Given the description of an element on the screen output the (x, y) to click on. 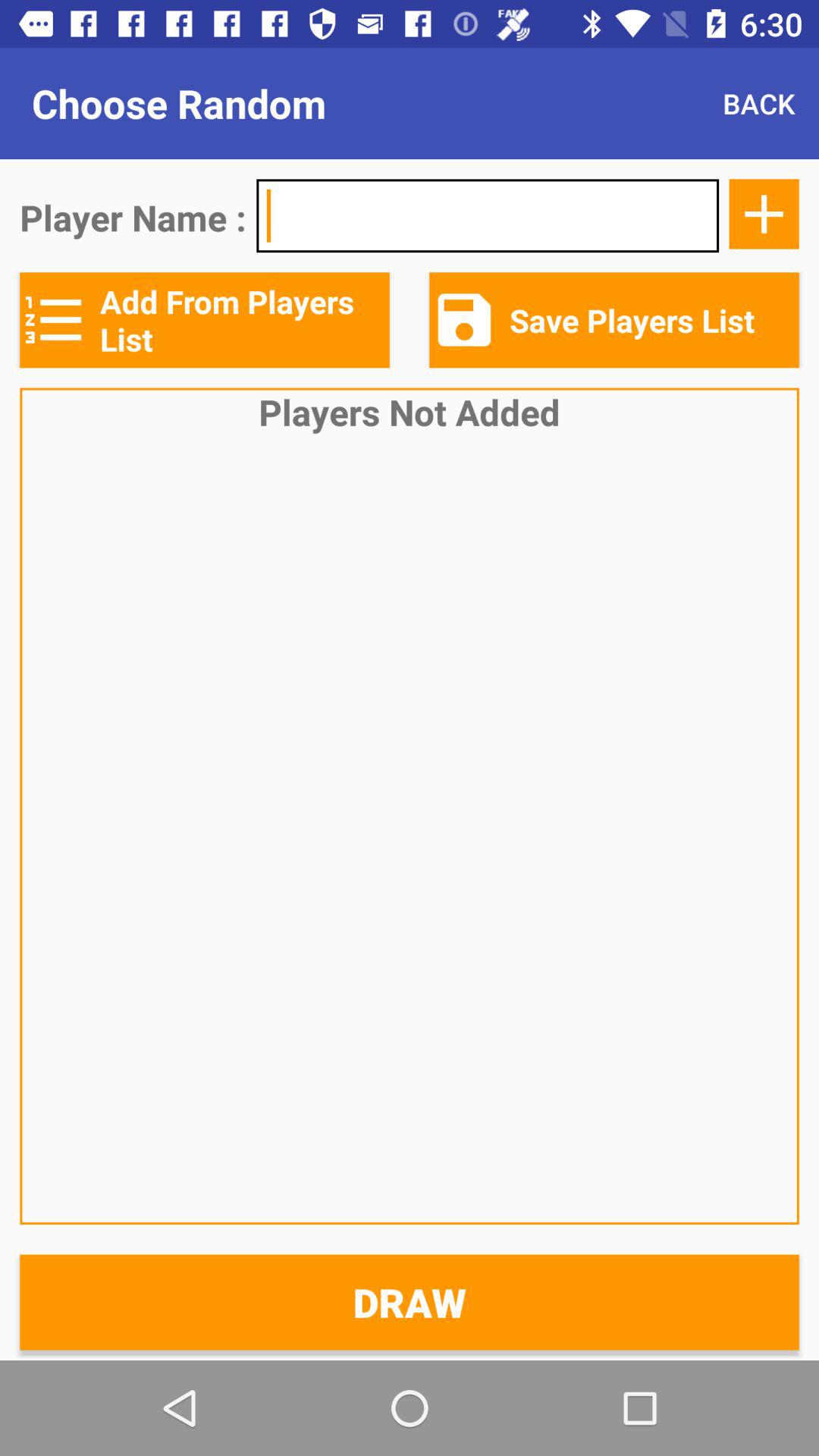
enter the name box (487, 215)
